Given the description of an element on the screen output the (x, y) to click on. 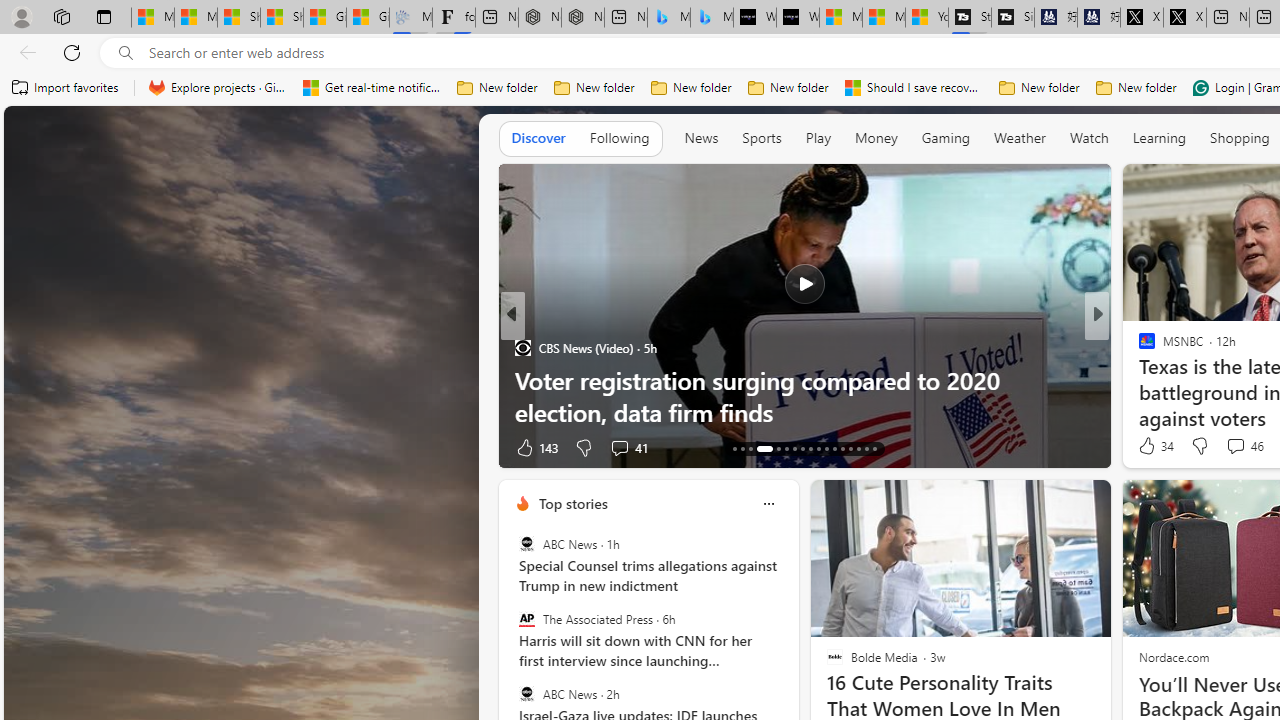
View comments 23 Comment (1229, 447)
View comments 3 Comment (1234, 447)
CNN (1138, 347)
The Weather Channel (1138, 347)
Forge of Empires (1175, 380)
View comments 26 Comment (1229, 447)
Import favorites (65, 88)
Inc. (1138, 347)
View comments 90 Comment (11, 447)
Like (523, 447)
62 Like (1149, 447)
